Given the description of an element on the screen output the (x, y) to click on. 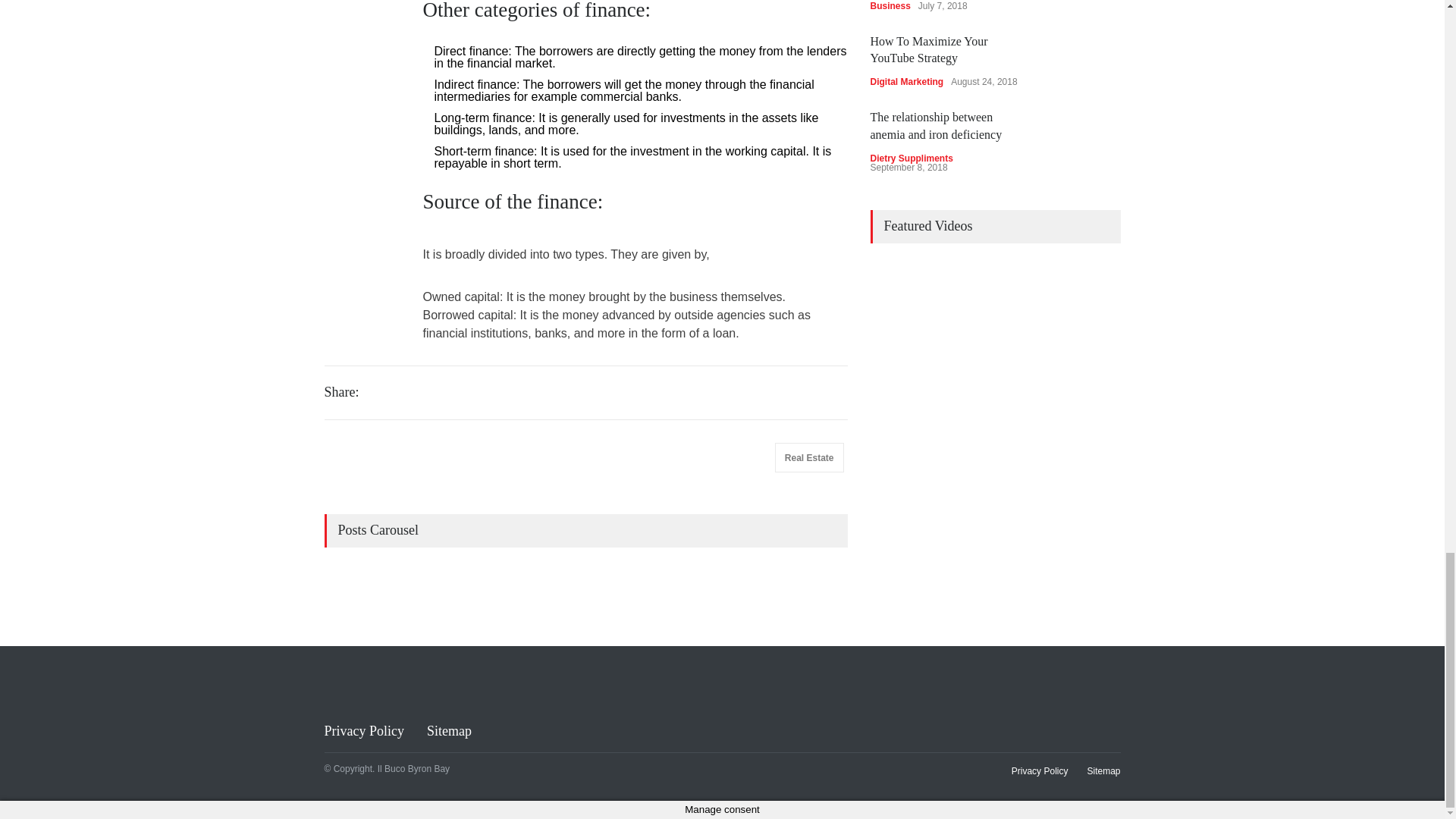
Real Estate (809, 457)
